Given the description of an element on the screen output the (x, y) to click on. 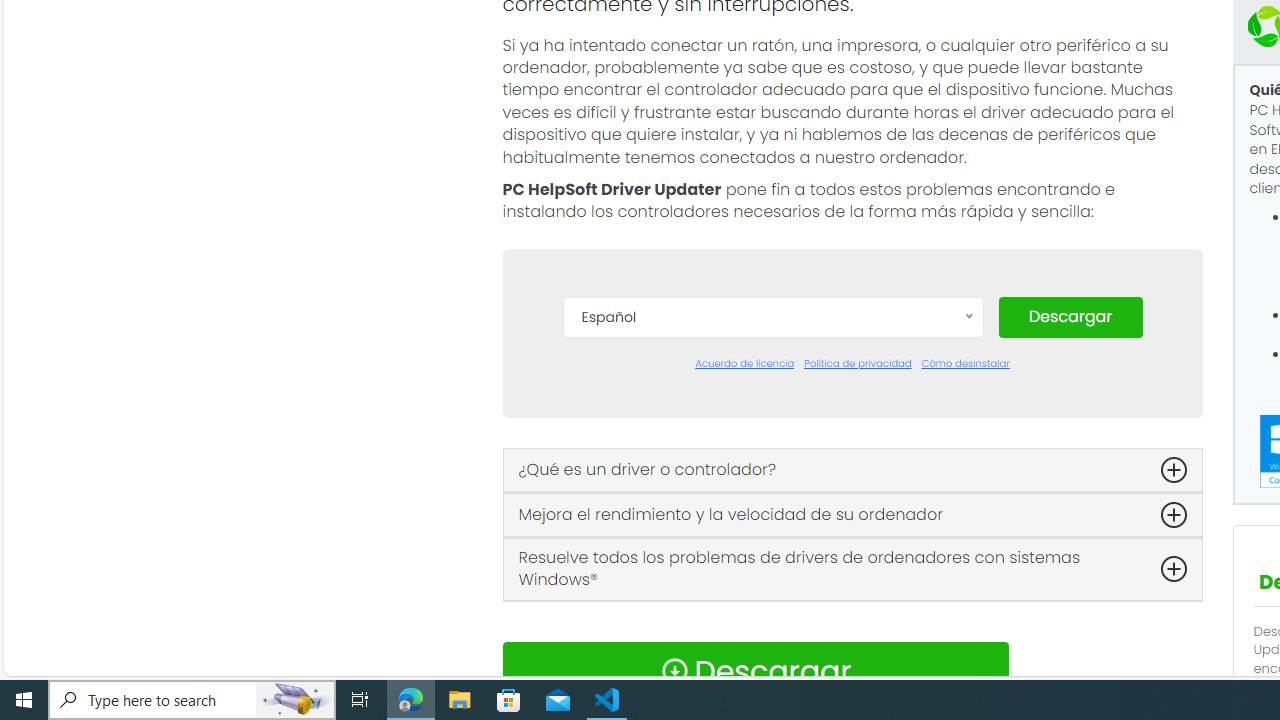
English (772, 501)
Download Icon (674, 670)
Download Icon Descargar (754, 670)
Deutsch (772, 472)
Descargar (1070, 316)
Norsk (772, 652)
Dansk (772, 411)
Acuerdo de licencia (744, 363)
Nederlands (772, 621)
Italiano (772, 591)
